Given the description of an element on the screen output the (x, y) to click on. 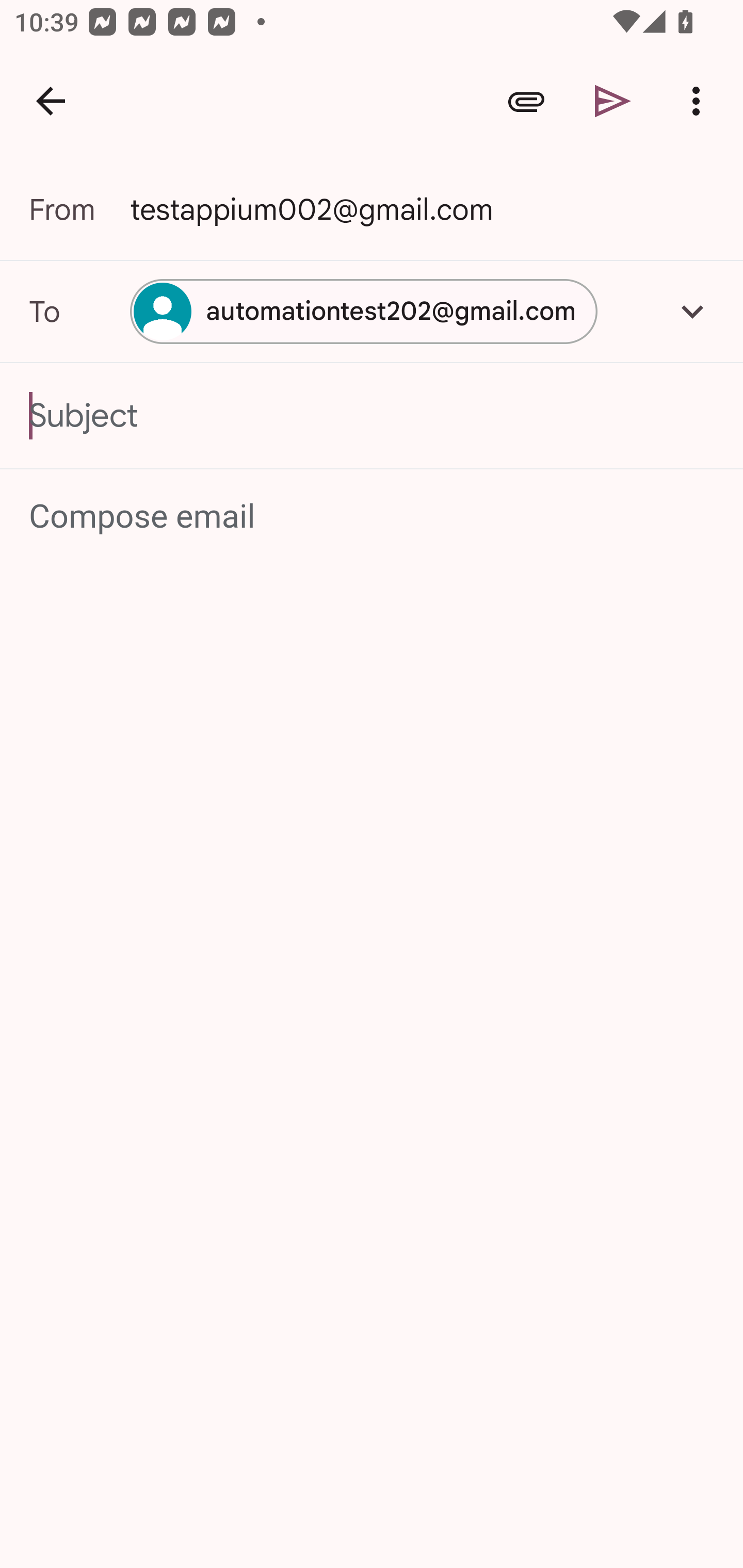
Navigate up (50, 101)
Attach file (525, 101)
Send (612, 101)
More options (699, 101)
From (79, 209)
Add Cc/Bcc (692, 311)
Subject (371, 415)
Compose email (372, 517)
